Given the description of an element on the screen output the (x, y) to click on. 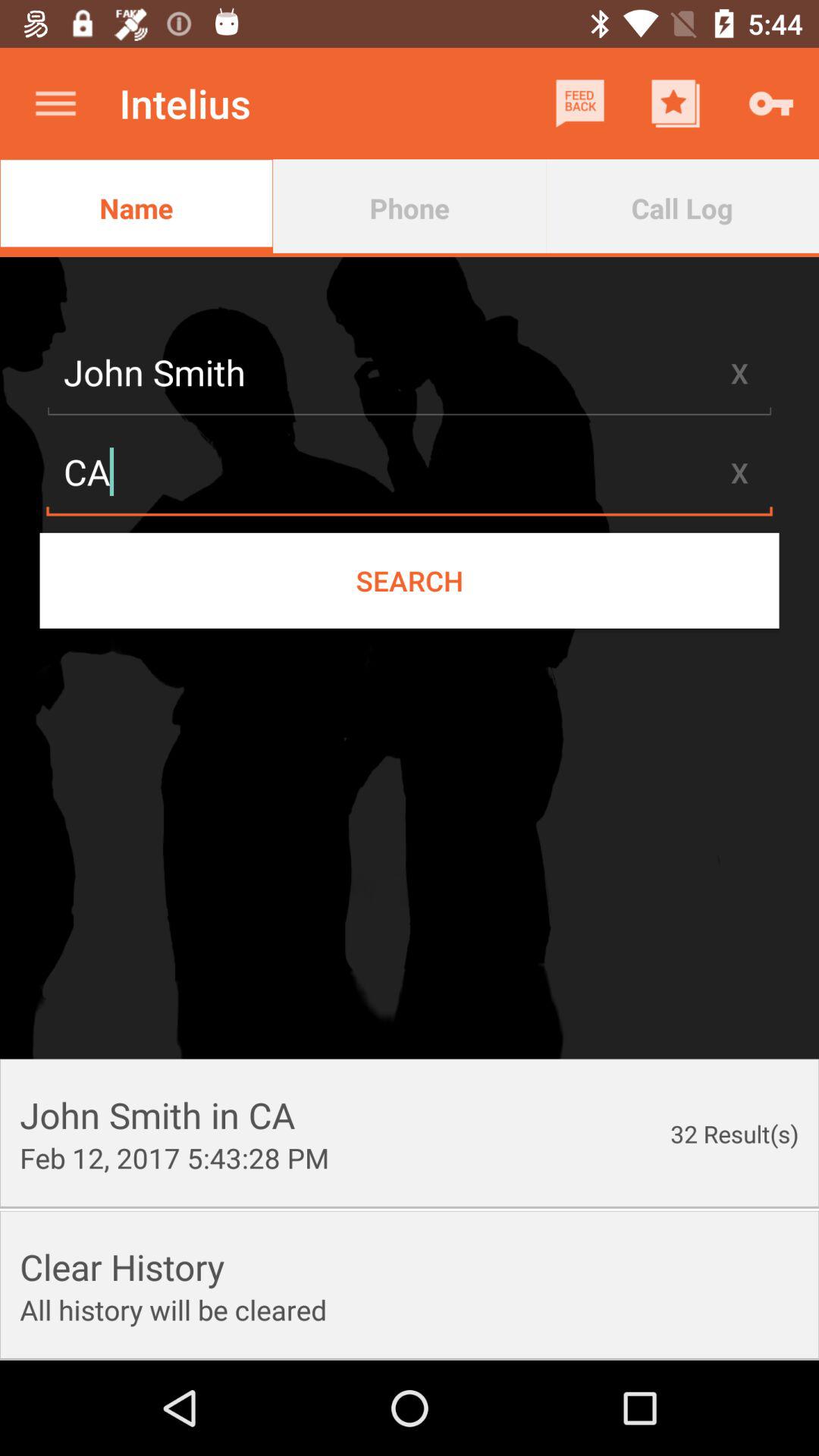
open the icon above the name item (55, 103)
